Given the description of an element on the screen output the (x, y) to click on. 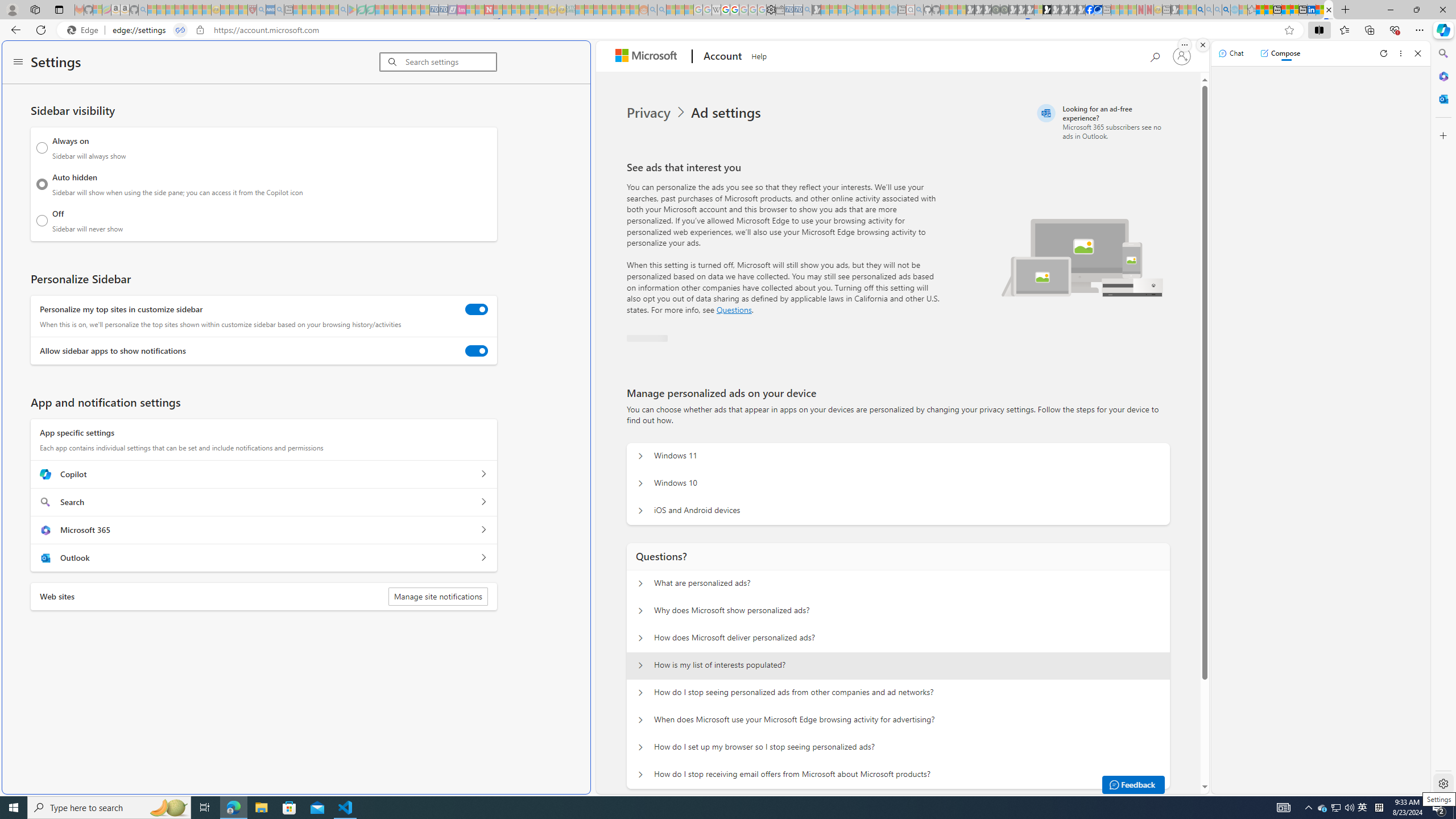
Expert Portfolios - Sleeping (606, 9)
Search Microsoft.com (1154, 54)
google - Search - Sleeping (342, 9)
Privacy Help Center - Policies Help (725, 9)
Compose (1279, 52)
